Given the description of an element on the screen output the (x, y) to click on. 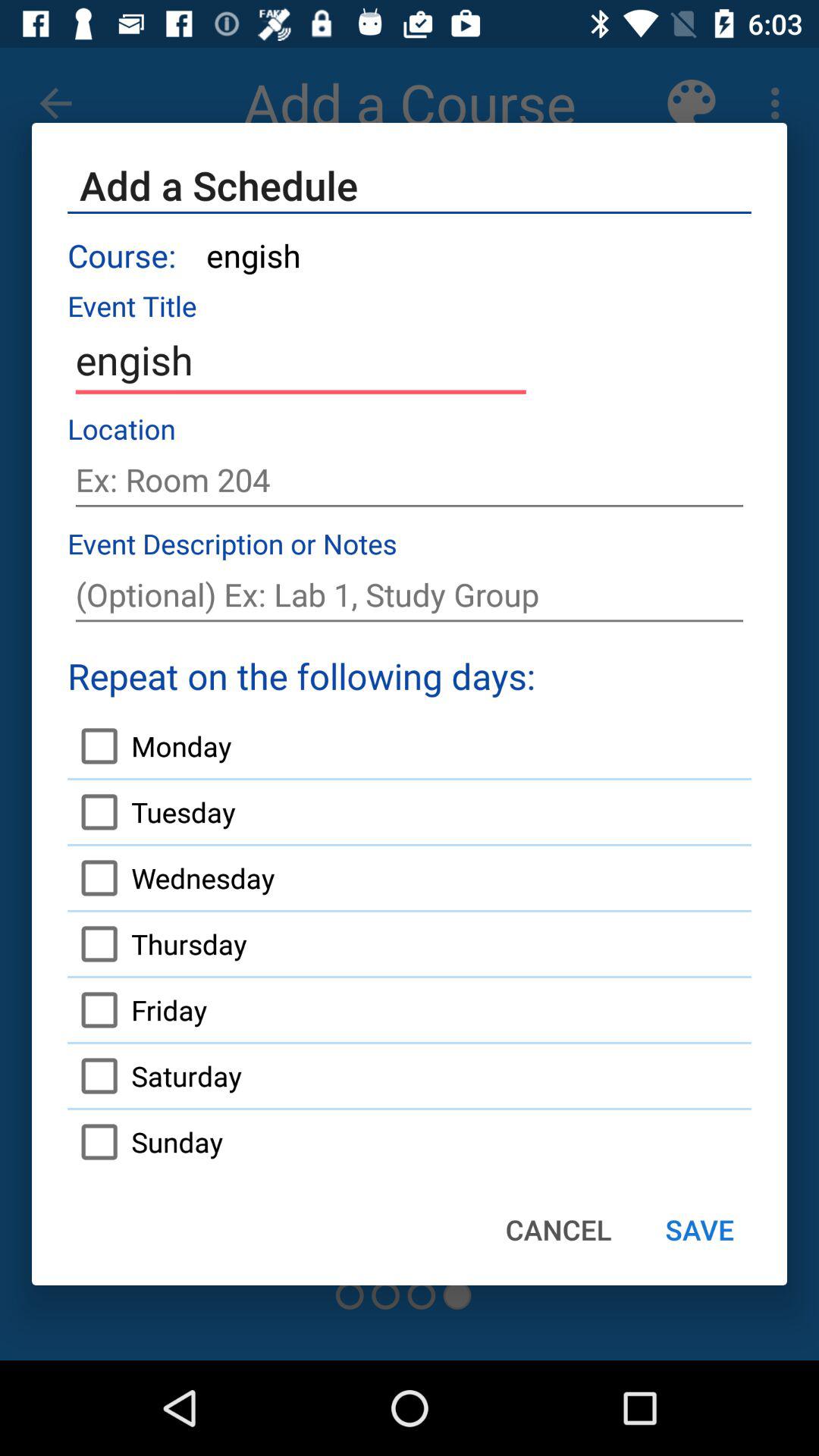
flip until the monday (149, 746)
